Given the description of an element on the screen output the (x, y) to click on. 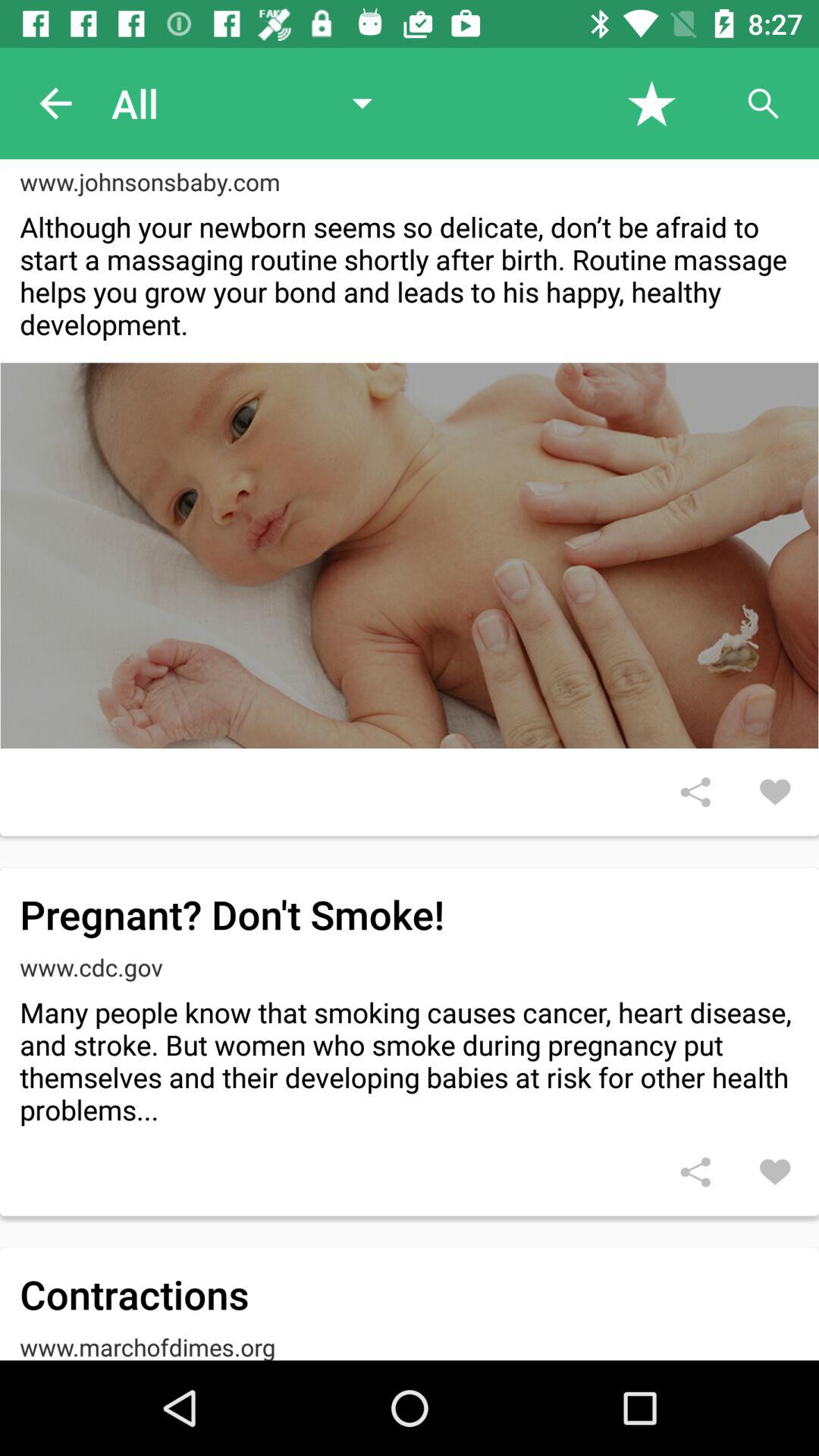
star option (651, 103)
